Given the description of an element on the screen output the (x, y) to click on. 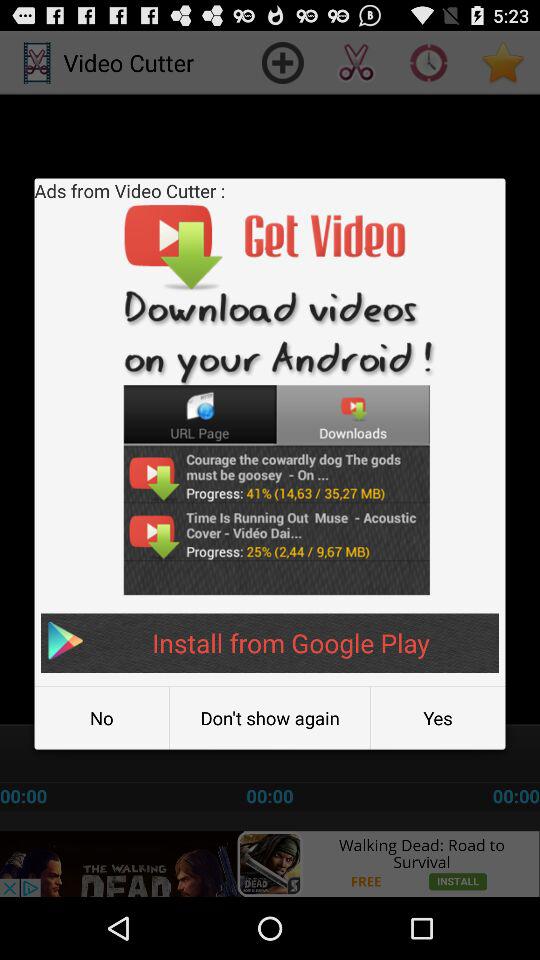
view advertisement (270, 864)
